Given the description of an element on the screen output the (x, y) to click on. 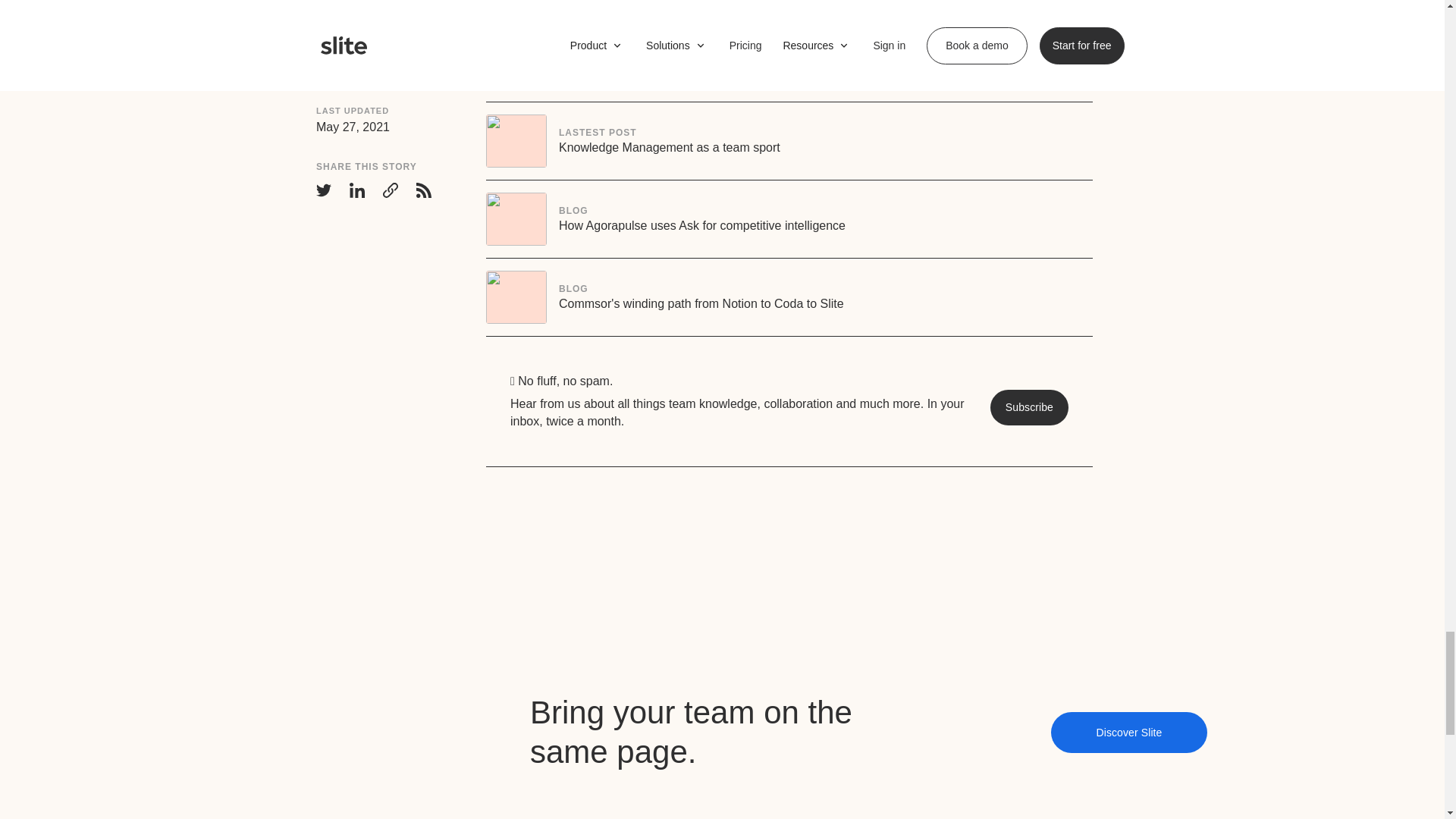
Share on LinkedIn (357, 30)
Subscribe (789, 218)
Discover Slite (789, 296)
Share on Twitter (1029, 407)
